Given the description of an element on the screen output the (x, y) to click on. 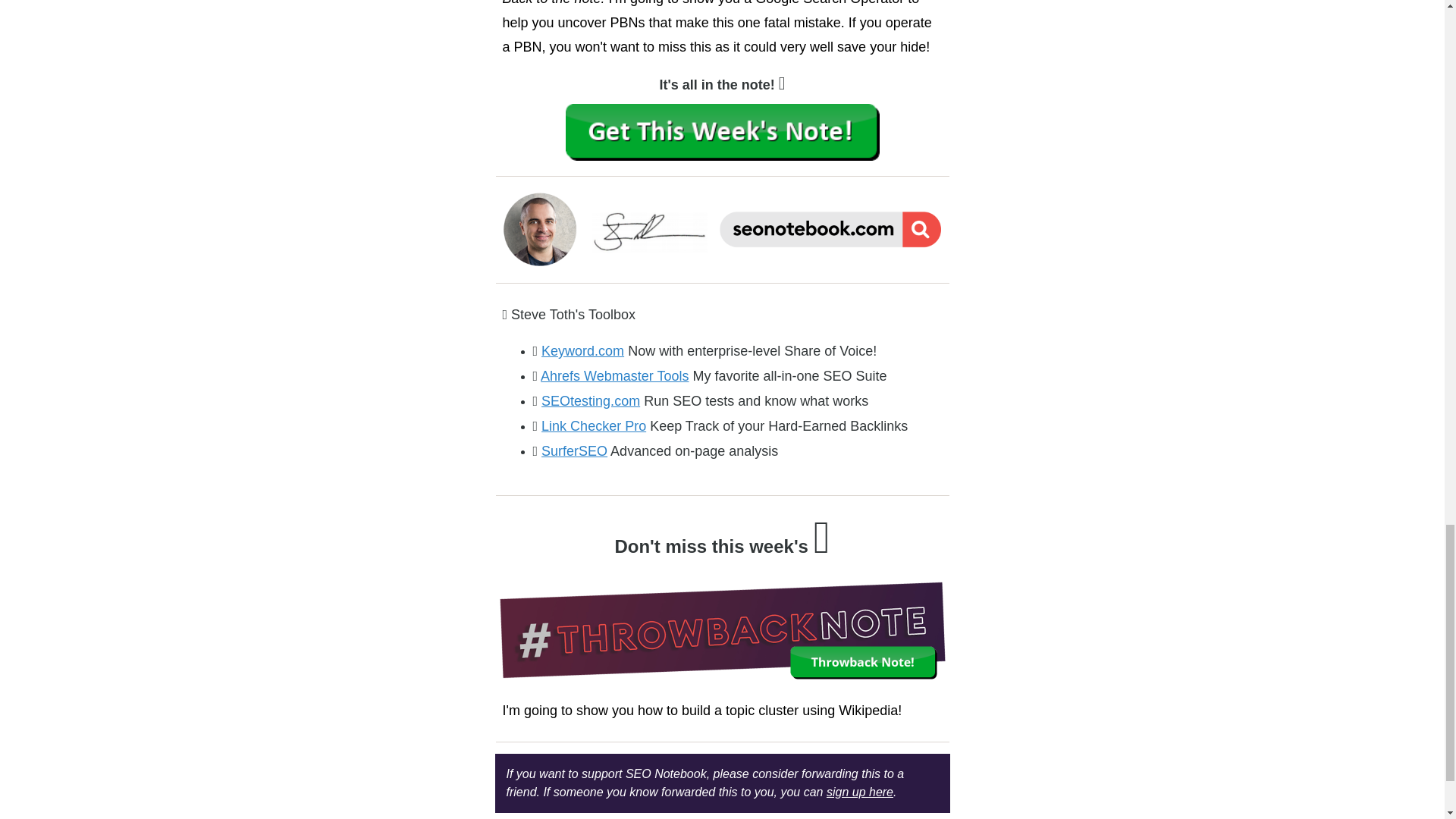
sign up here (860, 791)
SurferSEO (574, 450)
Link Checker Pro (593, 426)
Keyword.com (582, 350)
Ahrefs Webmaster Tools (614, 376)
SEOtesting.com (590, 400)
